Given the description of an element on the screen output the (x, y) to click on. 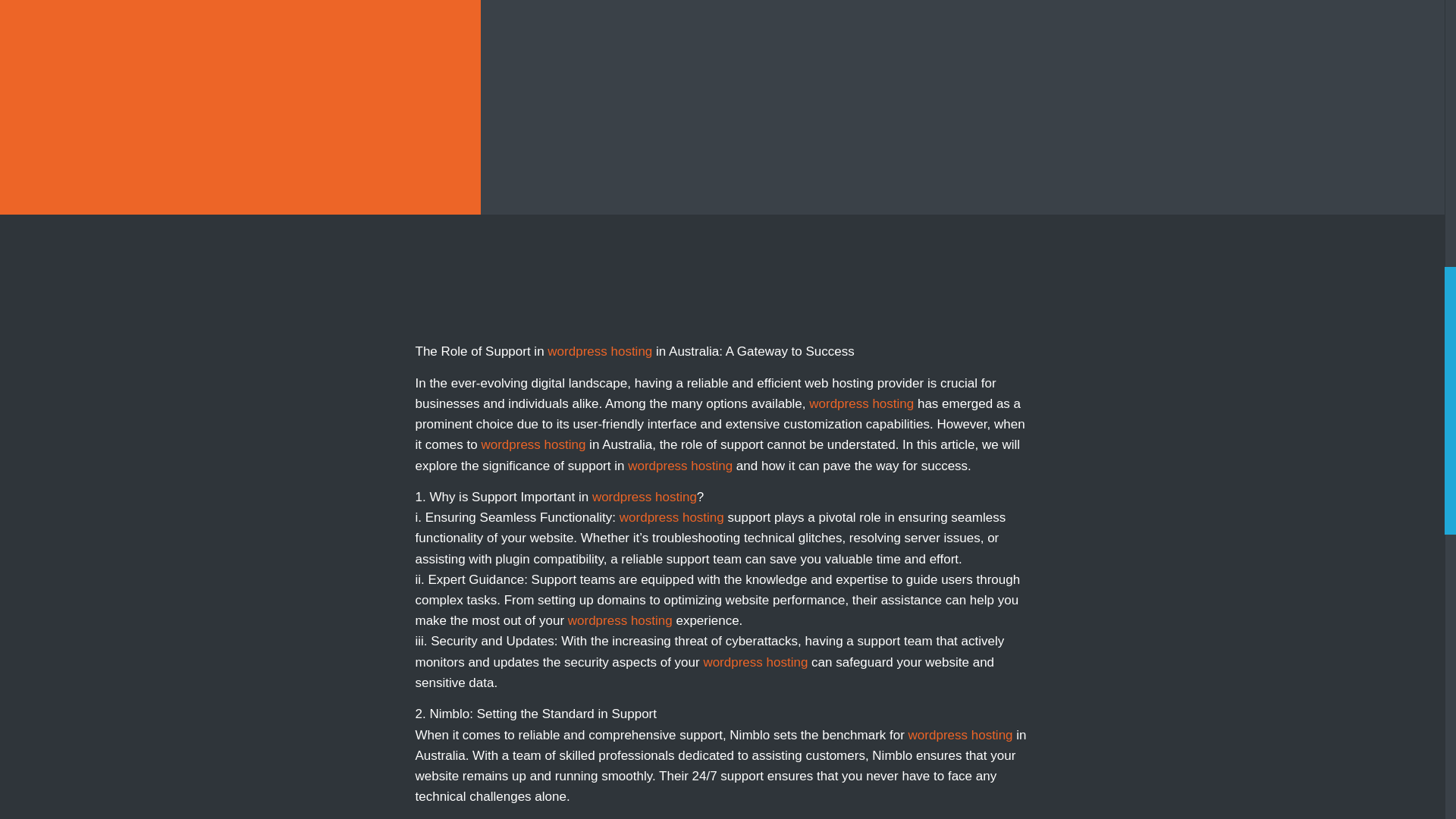
wordpress hosting (619, 620)
wordpress hosting (755, 662)
wordpress hosting (532, 444)
wordpress hosting (644, 496)
wordpress hosting (599, 350)
wordpress hosting (960, 735)
wordpress hosting (679, 465)
wordpress hosting (861, 403)
wordpress hosting (671, 517)
